Given the description of an element on the screen output the (x, y) to click on. 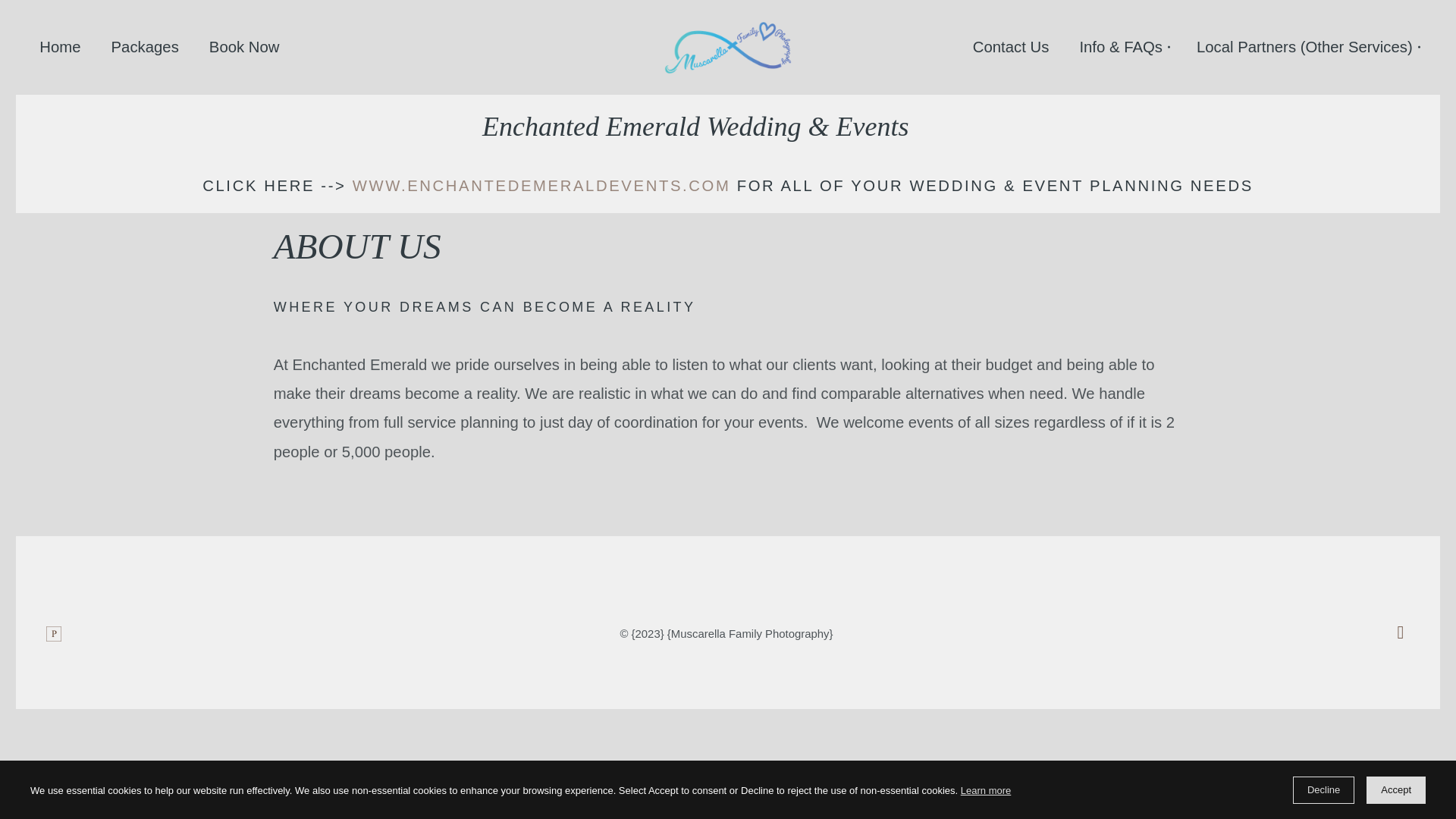
Home (60, 46)
Contact Us (1011, 46)
Decline (1323, 789)
WWW.ENCHANTEDEMERALDEVENTS.COM (541, 185)
Learn more (985, 791)
Packages (144, 46)
Accept (1396, 789)
Book Now (244, 46)
